Given the description of an element on the screen output the (x, y) to click on. 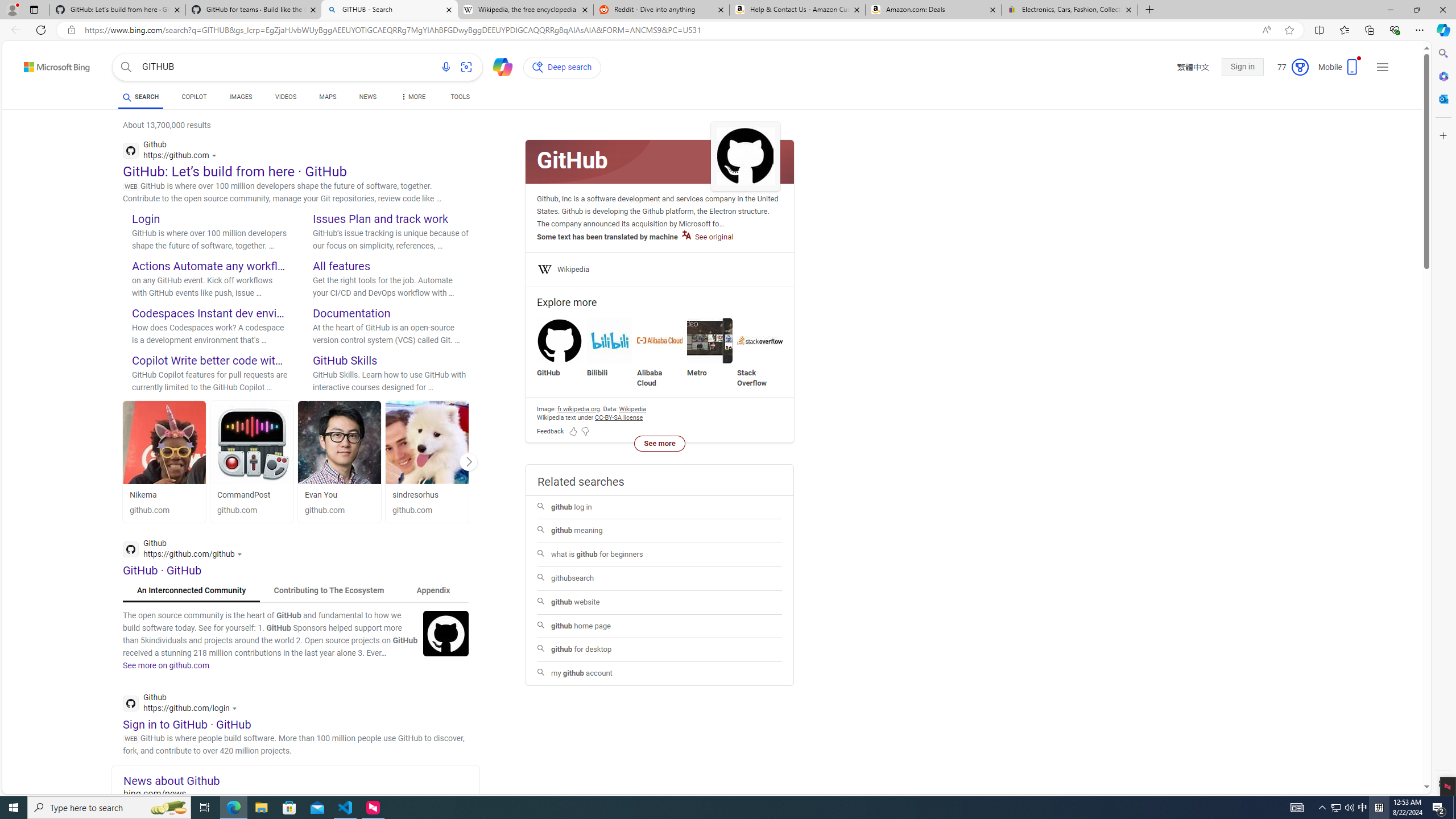
Data attribution Wikipedia (632, 408)
Chat (497, 65)
TOOLS (460, 96)
NEWS (367, 98)
sindresorhus sindresorhus github.com (426, 461)
Explore more Bilibili (608, 347)
Issues Plan and track work (380, 218)
AutomationID: mfa_root (1383, 752)
Search using voice (445, 66)
Metro (709, 347)
Microsoft Rewards  (1288, 67)
